Given the description of an element on the screen output the (x, y) to click on. 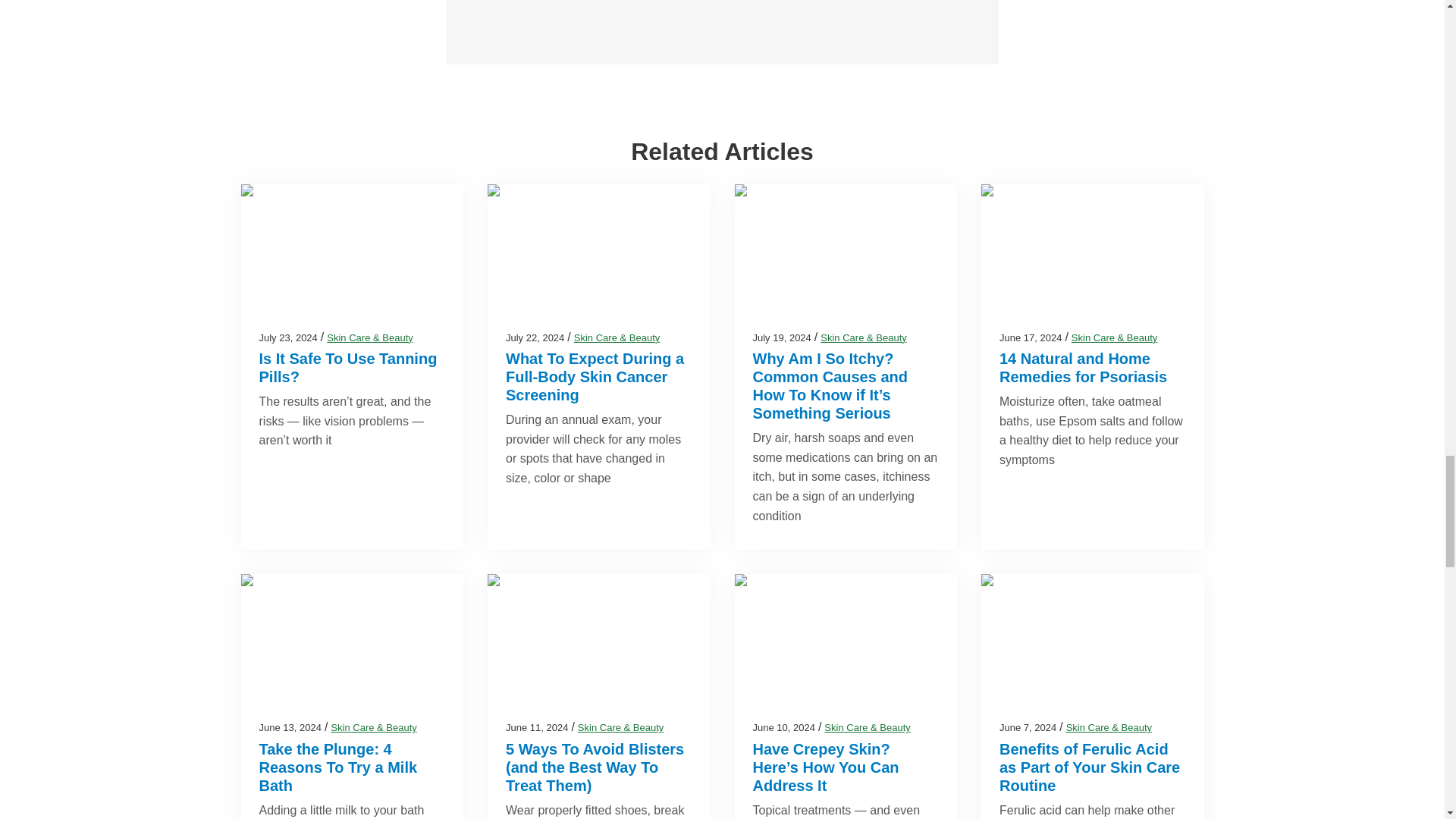
Is It Safe To Use Tanning Pills? (348, 367)
